Given the description of an element on the screen output the (x, y) to click on. 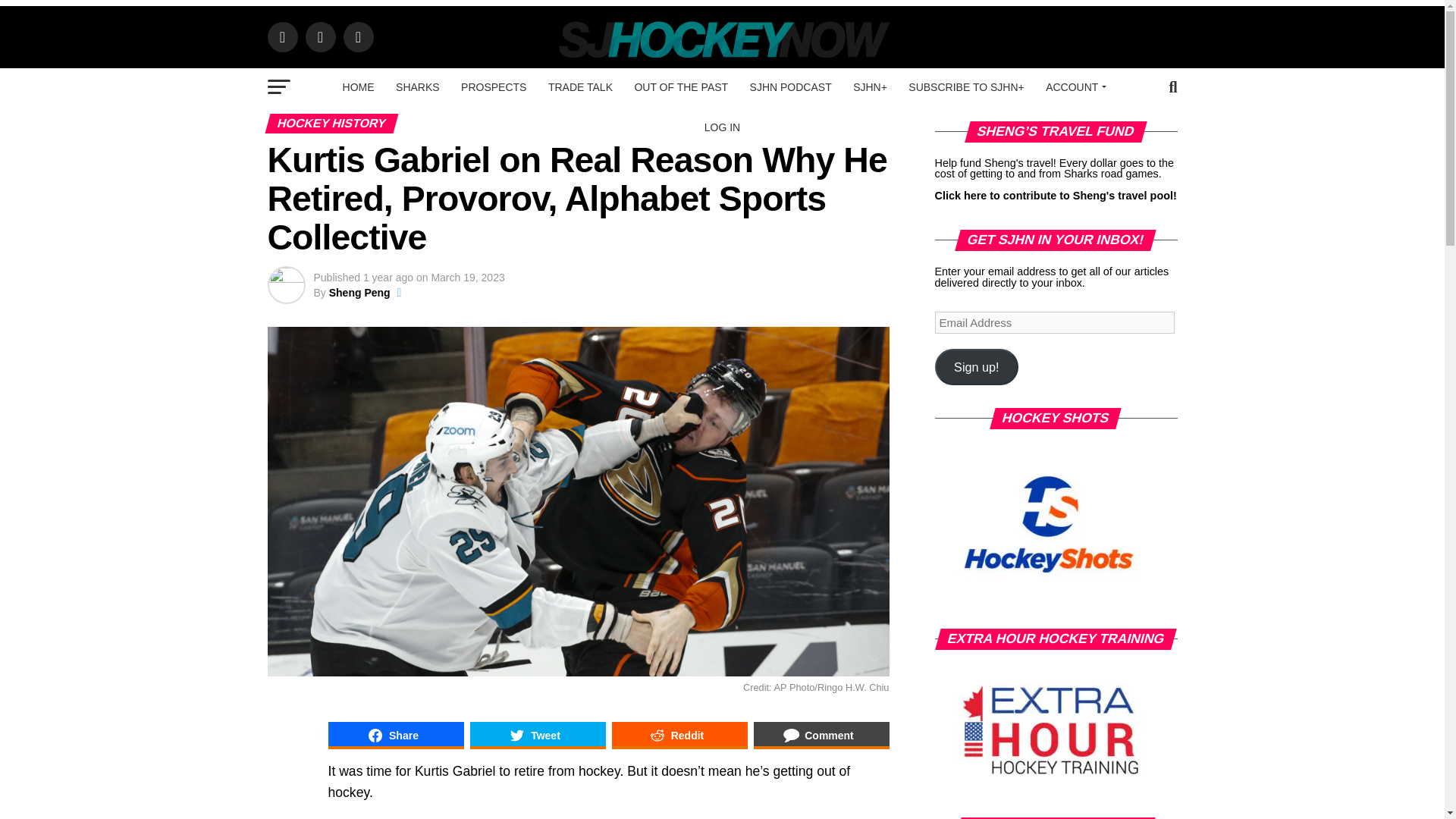
Share on Comment (821, 735)
Share on Reddit (678, 735)
SHARKS (417, 86)
Posts by Sheng Peng (359, 292)
TRADE TALK (579, 86)
PROSPECTS (493, 86)
HOME (358, 86)
Share on Share (395, 735)
Share on Tweet (537, 735)
